Given the description of an element on the screen output the (x, y) to click on. 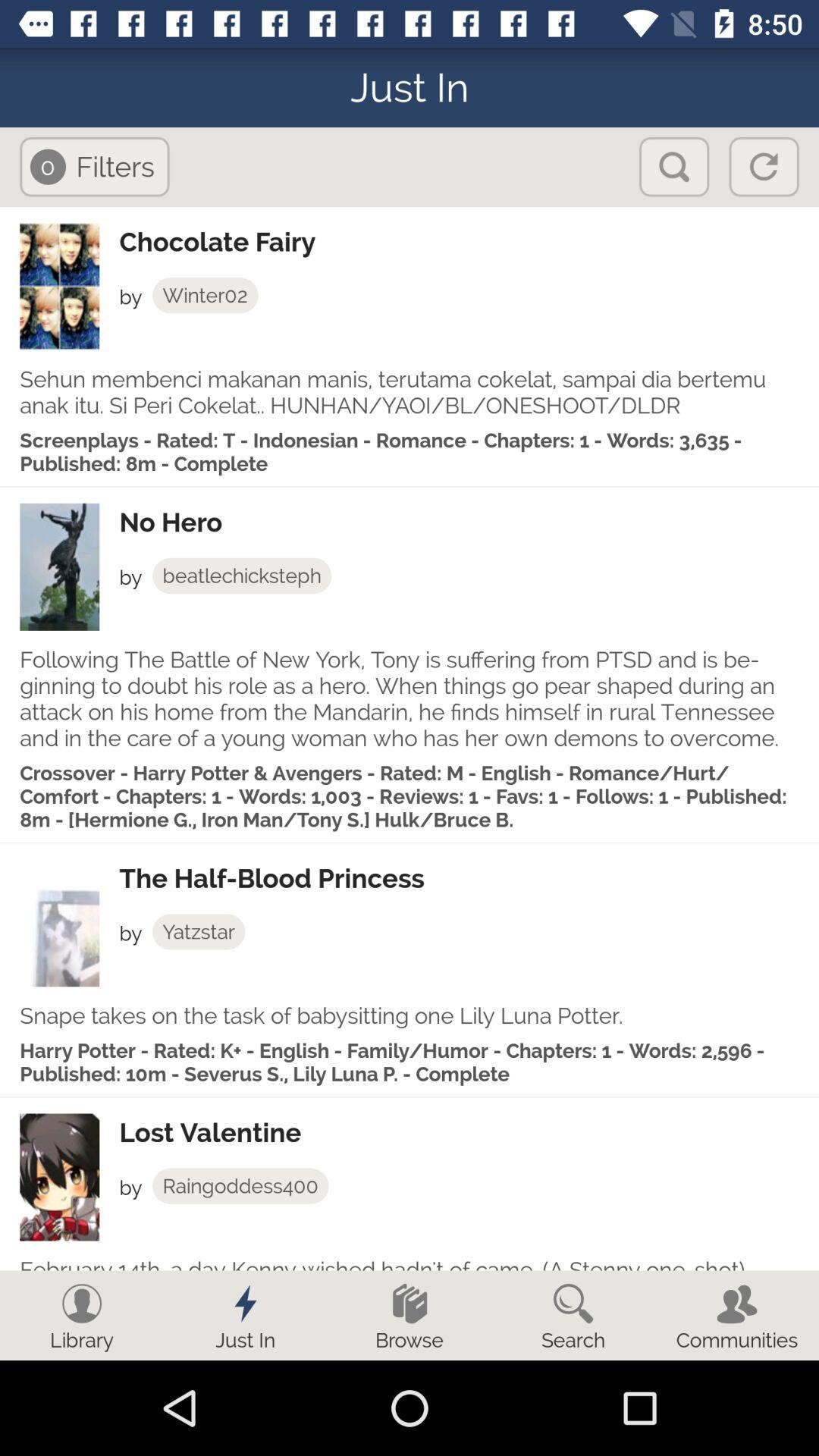
flip to raingoddess400 icon (240, 1186)
